Given the description of an element on the screen output the (x, y) to click on. 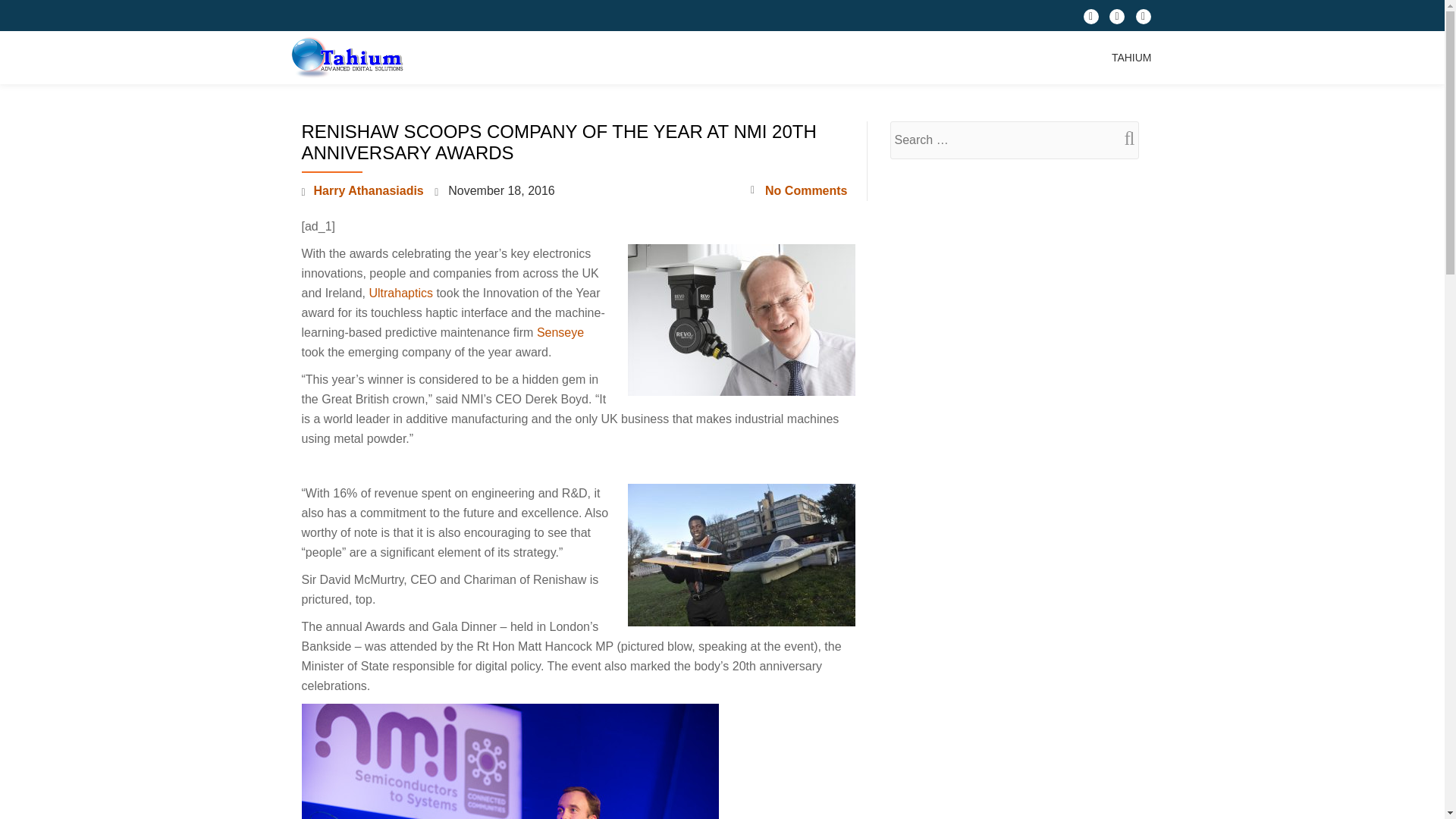
fa-linkedin-square (1143, 19)
Search (1122, 137)
Search (1122, 137)
TAHIUM (1131, 57)
Ultrahaptics (400, 292)
fa-facebook (1091, 19)
fa-twitter (1116, 19)
Harry Athanasiadis (368, 190)
No Comments (799, 190)
Tahium (349, 57)
Senseye (560, 332)
Search (1122, 137)
